Given the description of an element on the screen output the (x, y) to click on. 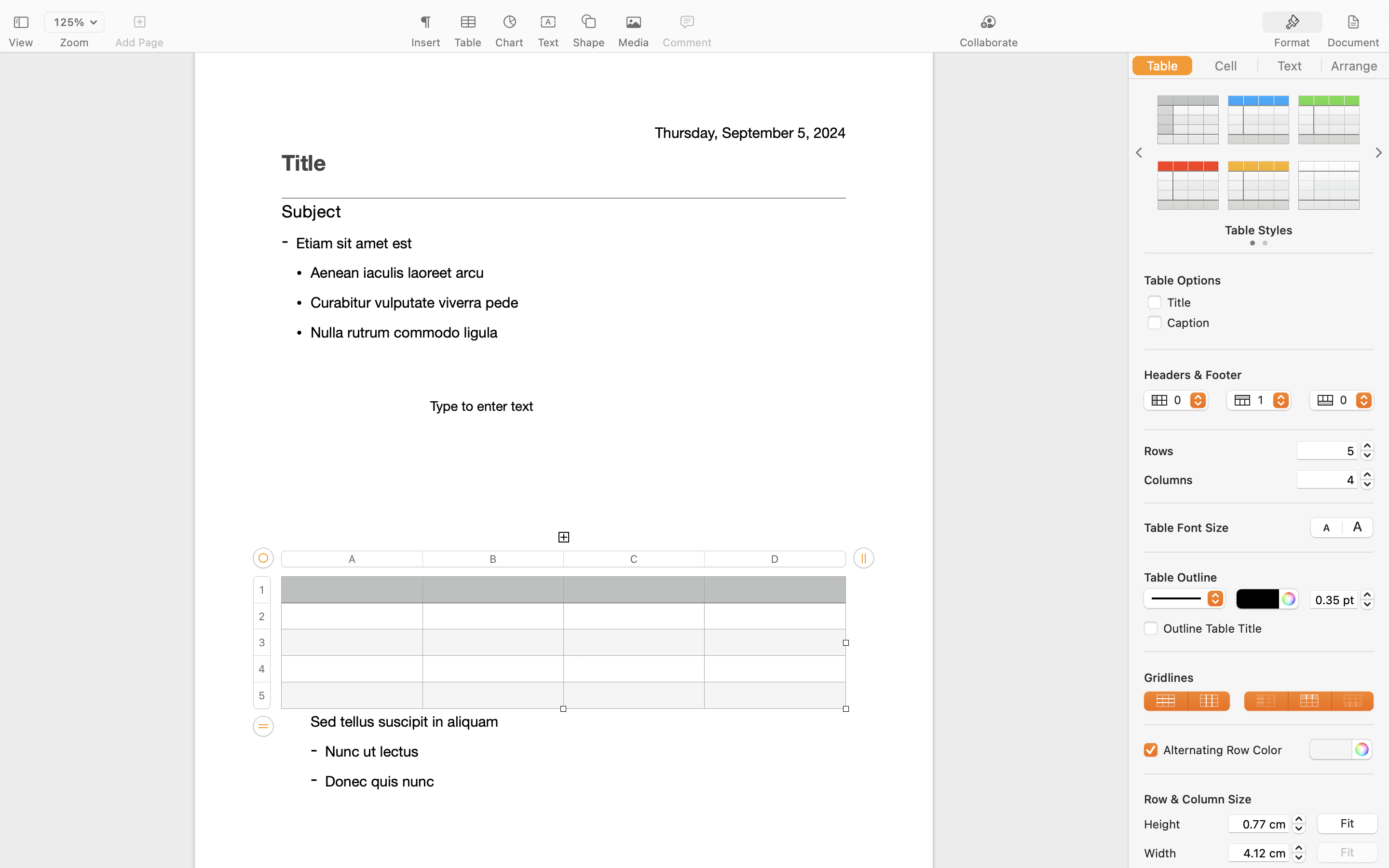
Headers & Footer Element type: AXStaticText (1192, 374)
5.0 Element type: AXIncrementor (1367, 449)
Zoom Element type: AXStaticText (73, 42)
5 Element type: AXTextField (1327, 450)
Rows Element type: AXStaticText (1216, 450)
